Given the description of an element on the screen output the (x, y) to click on. 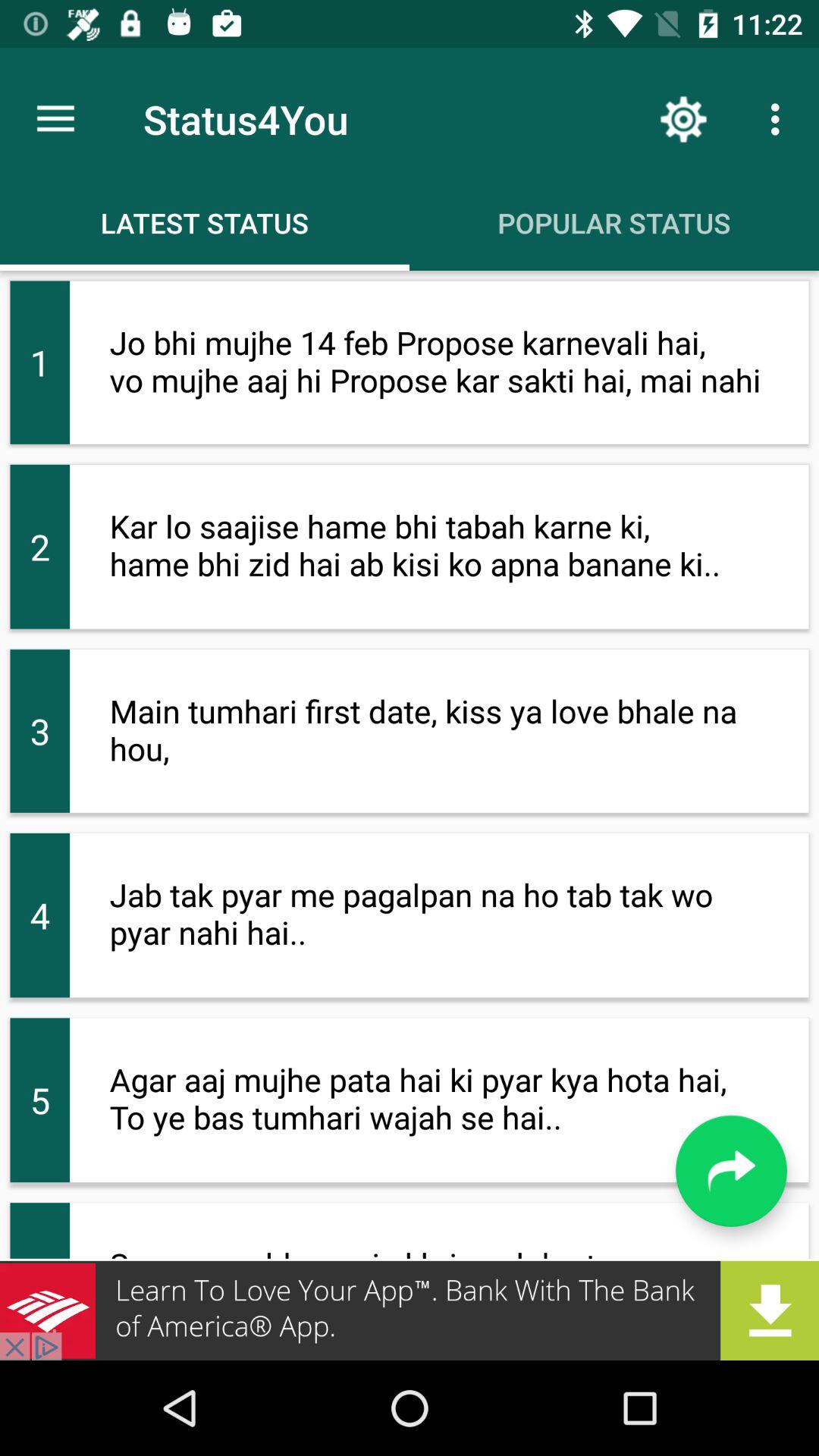
go to add (409, 1310)
